Given the description of an element on the screen output the (x, y) to click on. 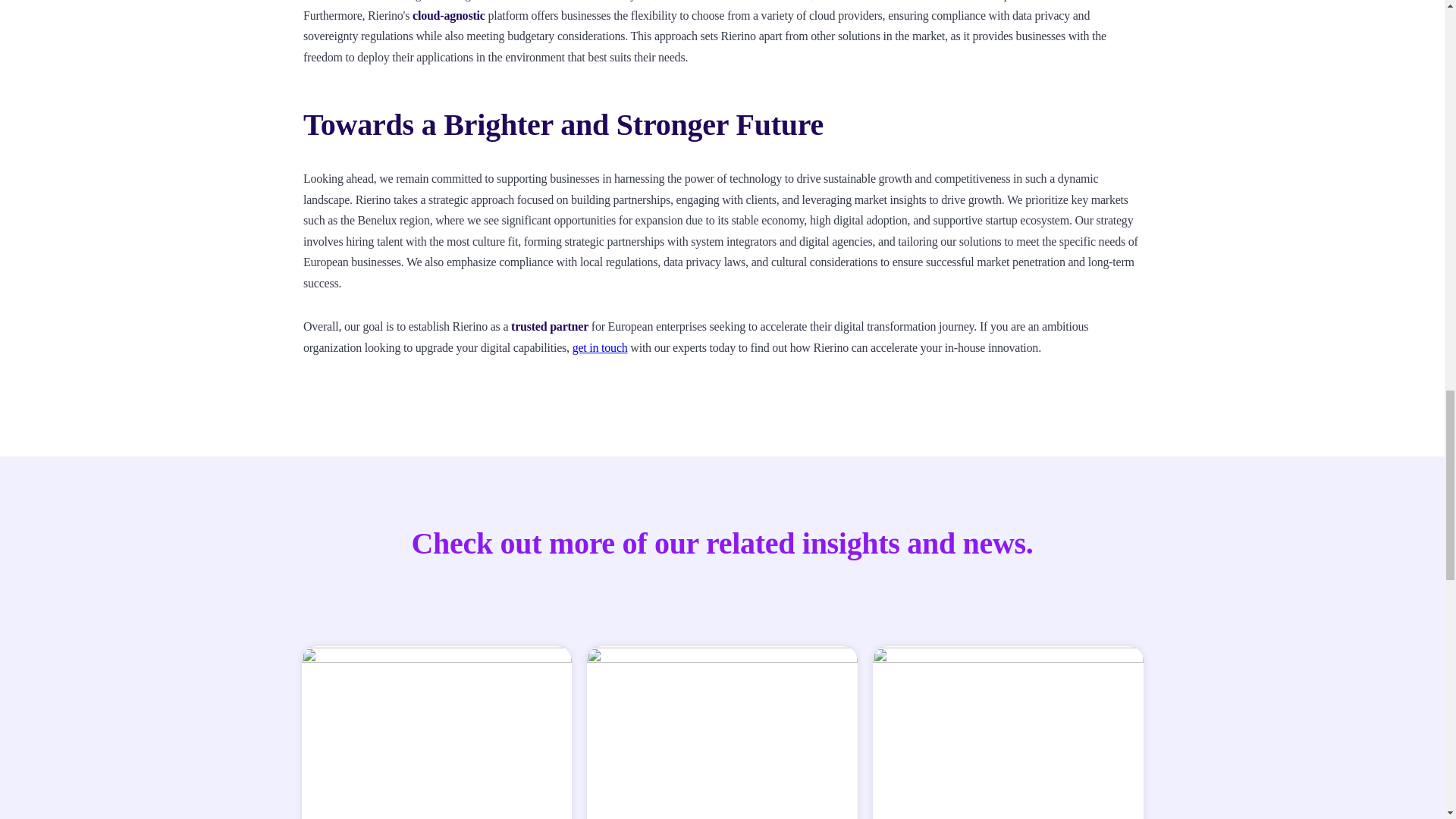
get in touch (599, 347)
